Given the description of an element on the screen output the (x, y) to click on. 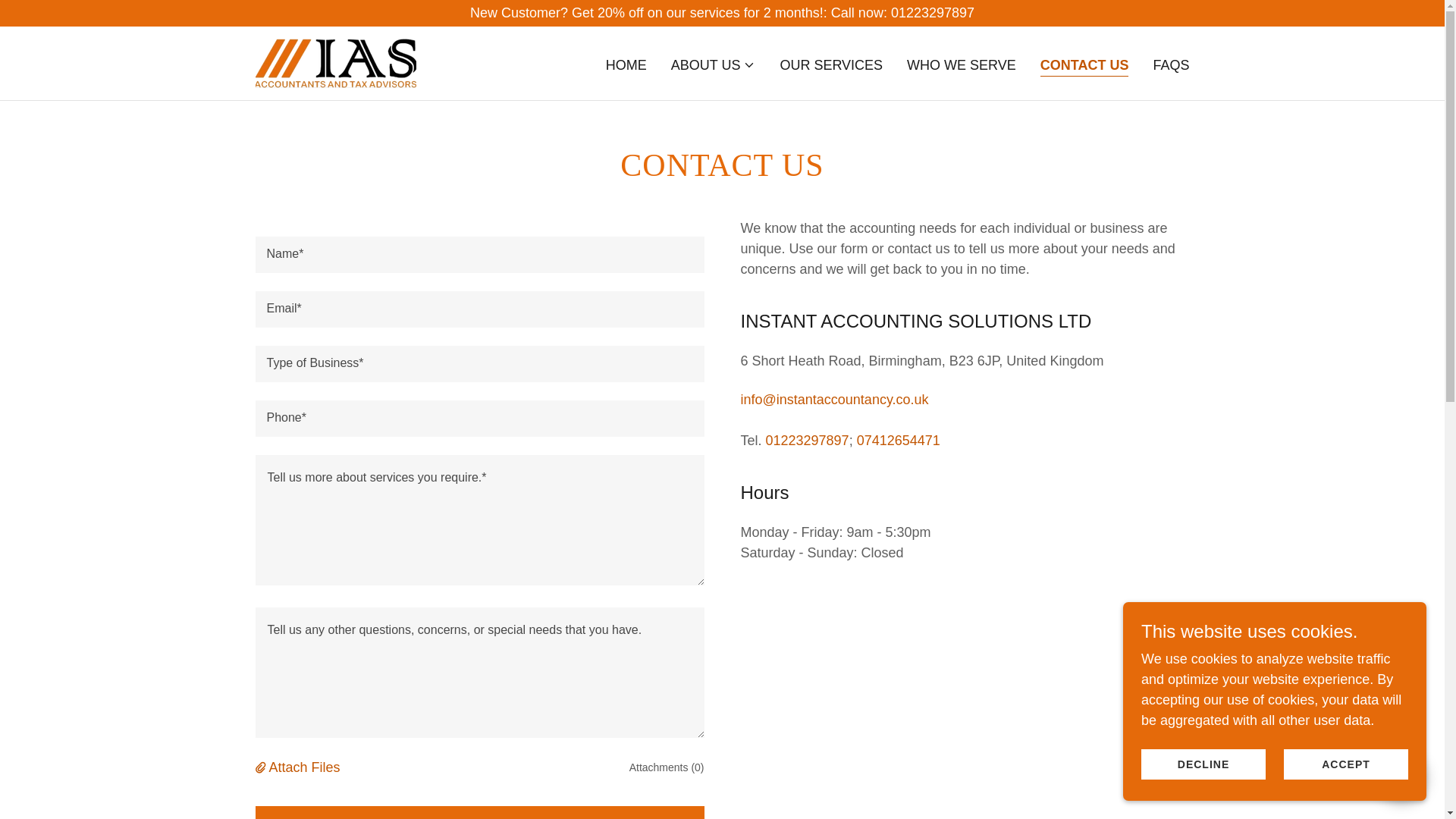
FAQS (1170, 64)
CONTACT US (1085, 66)
ABOUT US (713, 65)
SEND (478, 812)
07412654471 (898, 440)
HOME (625, 64)
01223297897 (806, 440)
OUR SERVICES (830, 64)
WHO WE SERVE (961, 64)
